Given the description of an element on the screen output the (x, y) to click on. 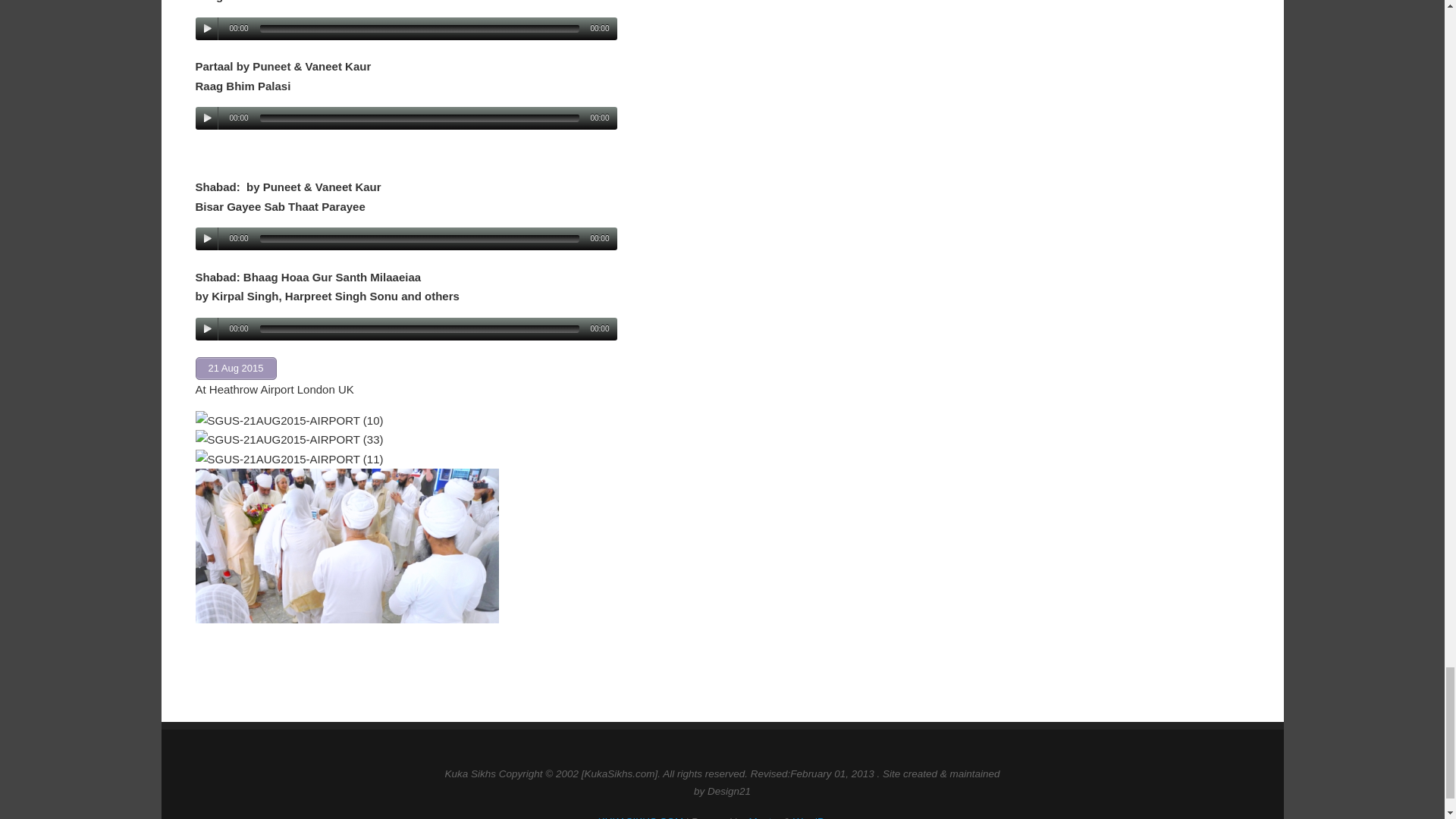
Semantic Personal Publishing Platform (819, 817)
Mantra Theme by Cryout Creations (764, 817)
KUKASIKHS.COM (641, 817)
